Given the description of an element on the screen output the (x, y) to click on. 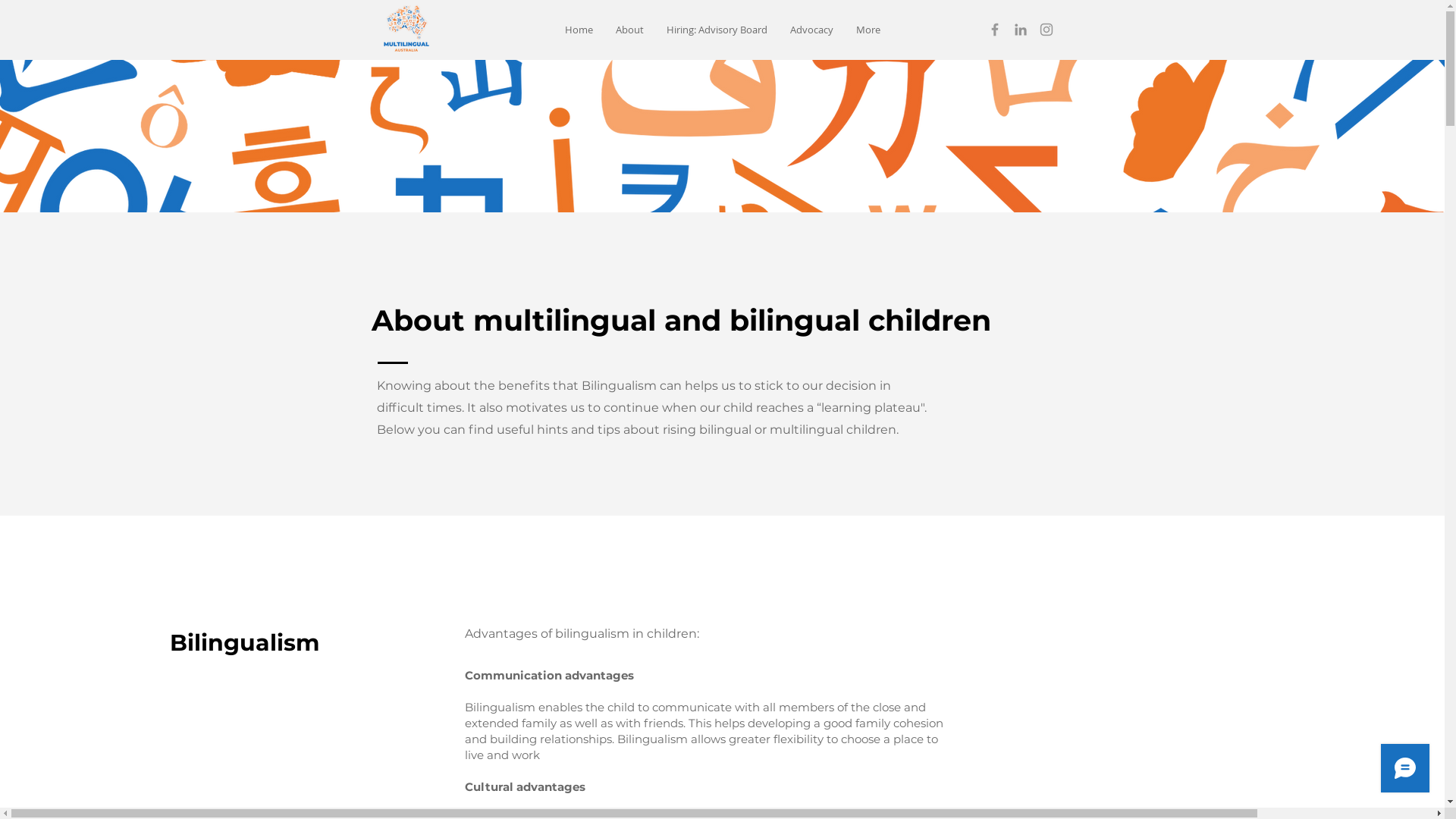
Home Element type: text (578, 29)
Advocacy Element type: text (811, 29)
About Element type: text (628, 29)
Wix Chat Element type: hover (1408, 771)
Hiring: Advisory Board Element type: text (716, 29)
